Given the description of an element on the screen output the (x, y) to click on. 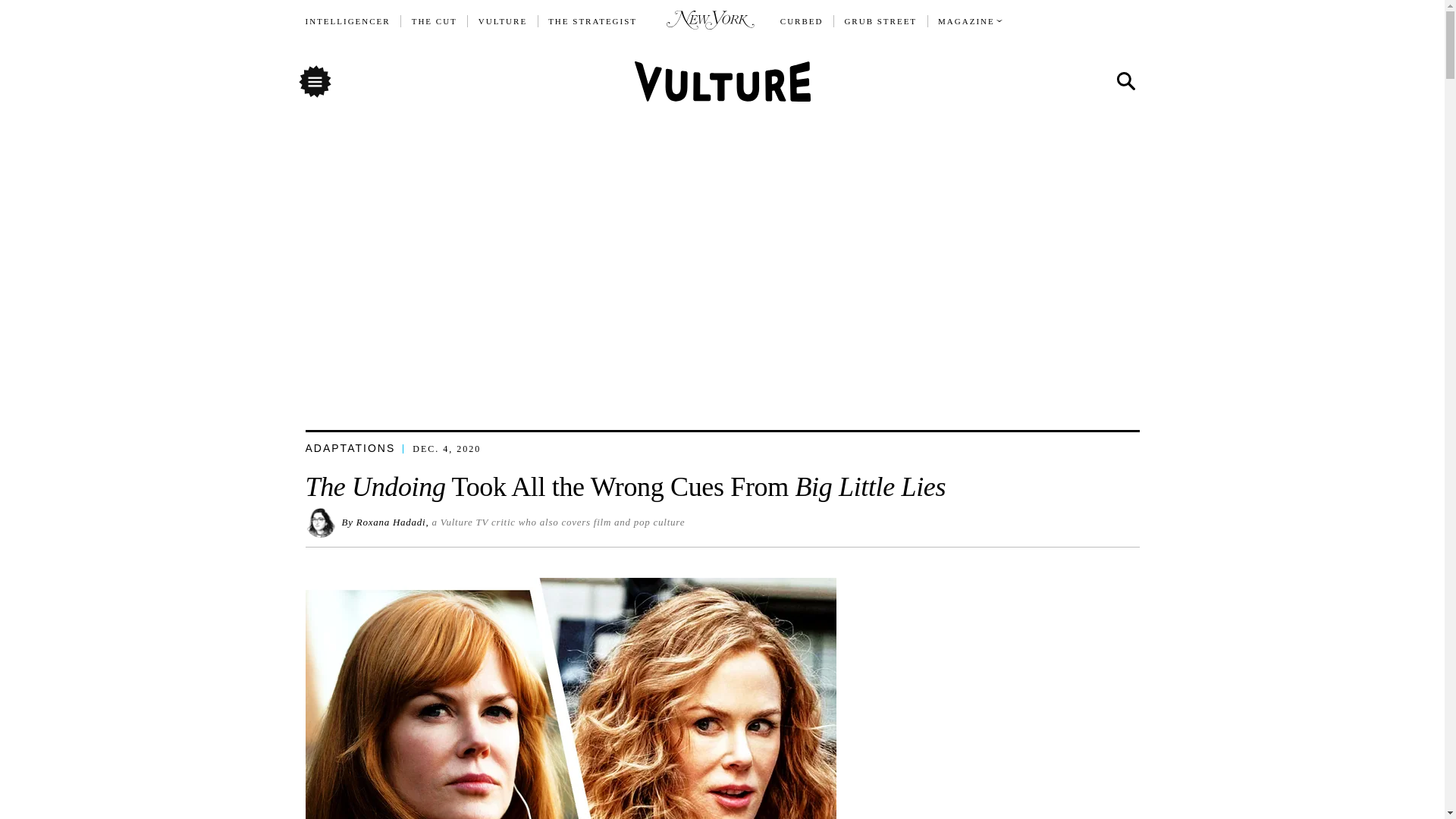
VULTURE (503, 21)
GRUB STREET (880, 21)
INTELLIGENCER (347, 21)
Menu (314, 80)
THE CUT (434, 21)
MAGAZINE (965, 21)
THE STRATEGIST (592, 21)
Search (1124, 81)
CURBED (802, 21)
